Given the description of an element on the screen output the (x, y) to click on. 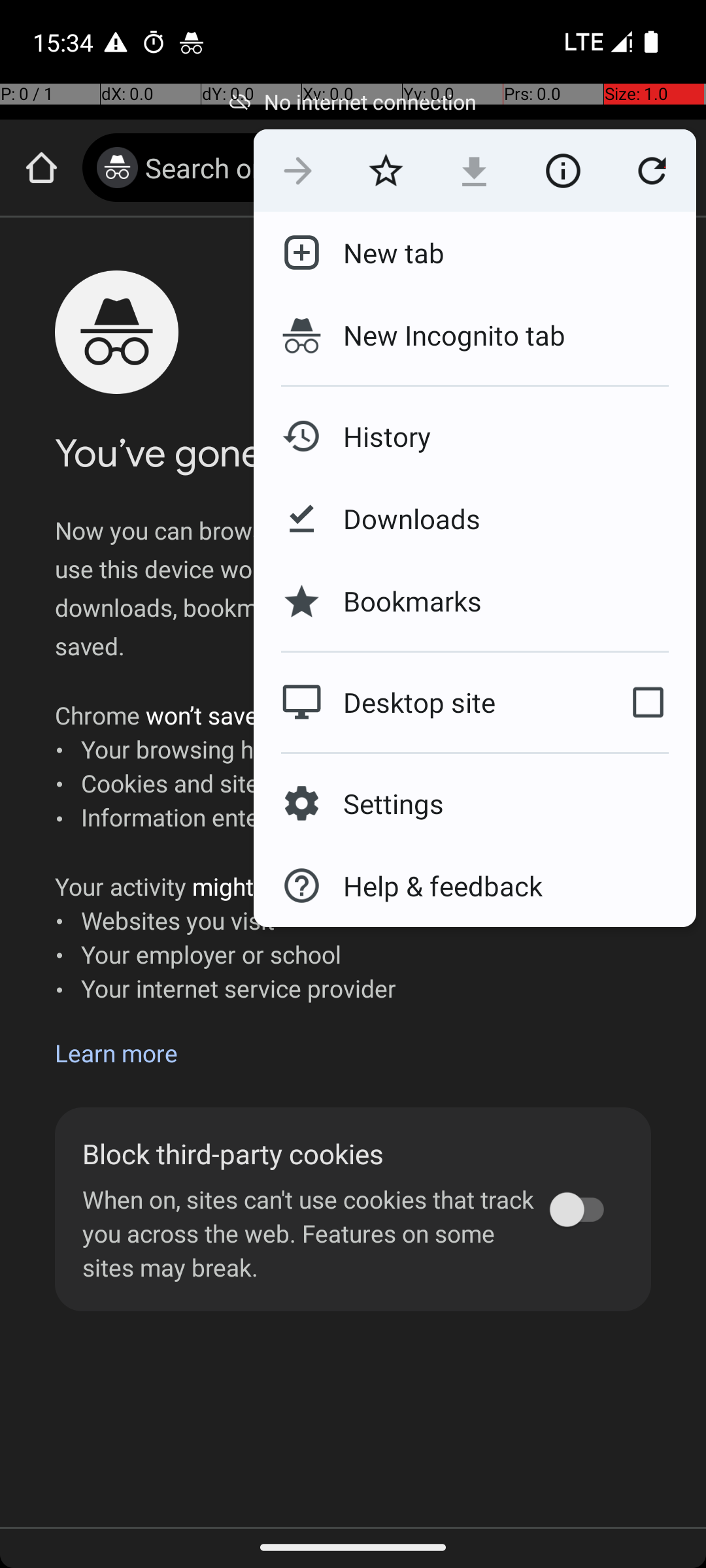
Forward Element type: android.widget.ImageButton (297, 170)
Bookmark Element type: android.widget.ImageButton (385, 170)
Download Element type: android.widget.ImageButton (474, 170)
Page info Element type: android.widget.ImageButton (562, 170)
Refresh Element type: android.widget.ImageButton (651, 170)
New tab Element type: android.widget.TextView (383, 252)
New Incognito tab Element type: android.widget.TextView (474, 335)
Bookmarks Element type: android.widget.TextView (401, 600)
Desktop site Element type: android.widget.TextView (426, 702)
